Given the description of an element on the screen output the (x, y) to click on. 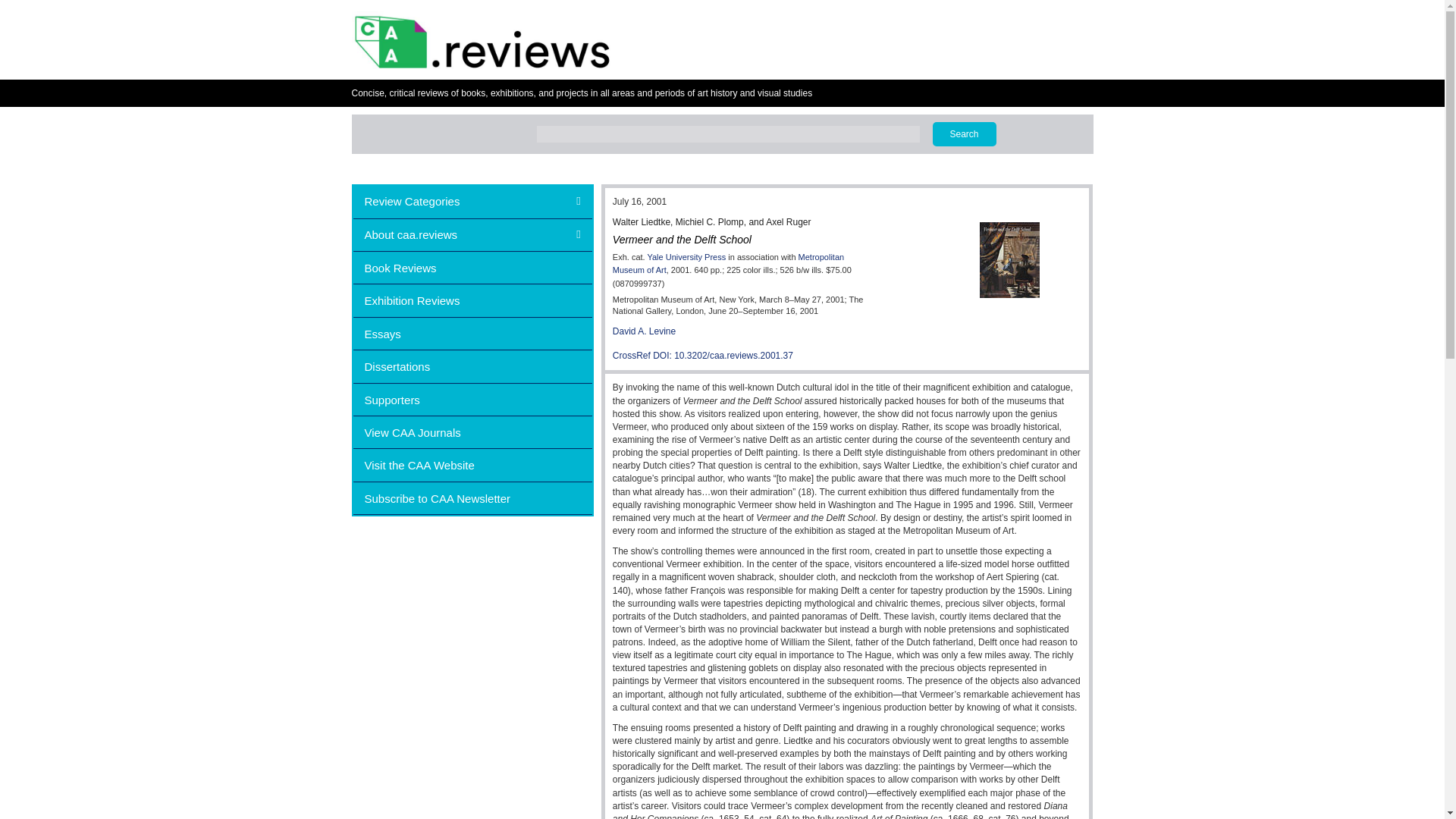
Search (964, 134)
Search (964, 134)
Review Categories (472, 201)
